Given the description of an element on the screen output the (x, y) to click on. 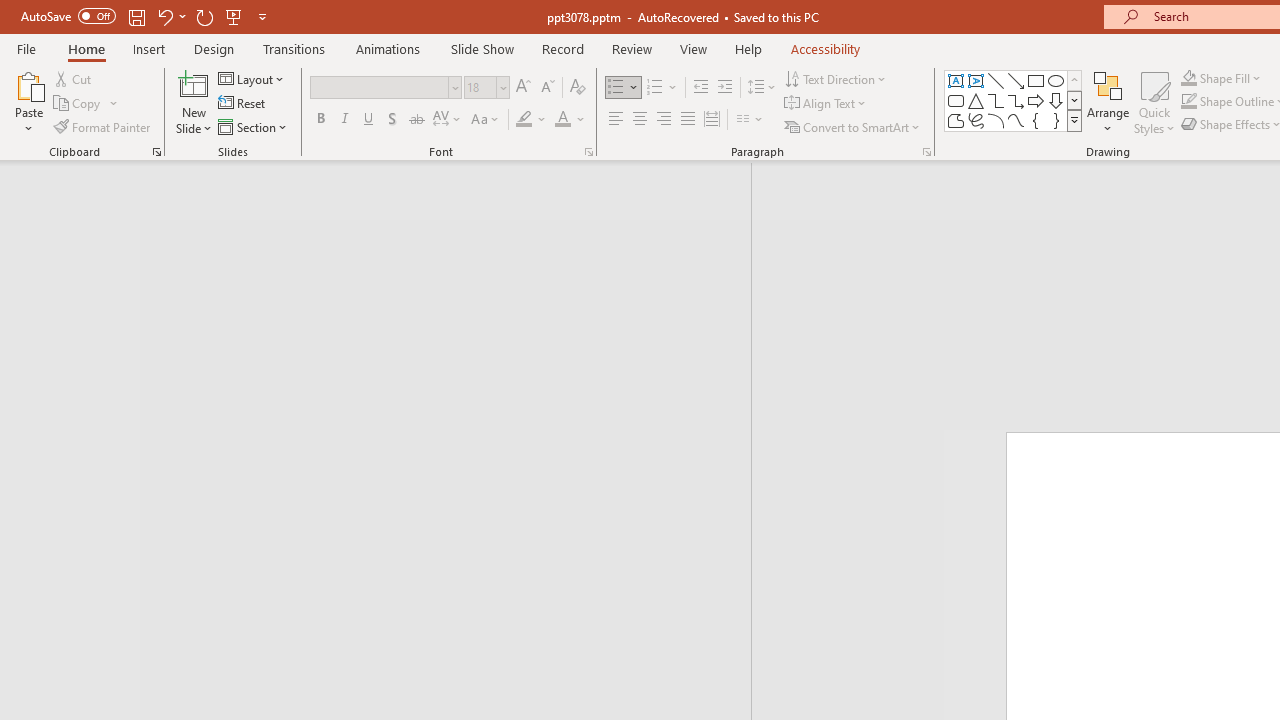
Shape Fill Dark Green, Accent 2 (1188, 78)
